Given the description of an element on the screen output the (x, y) to click on. 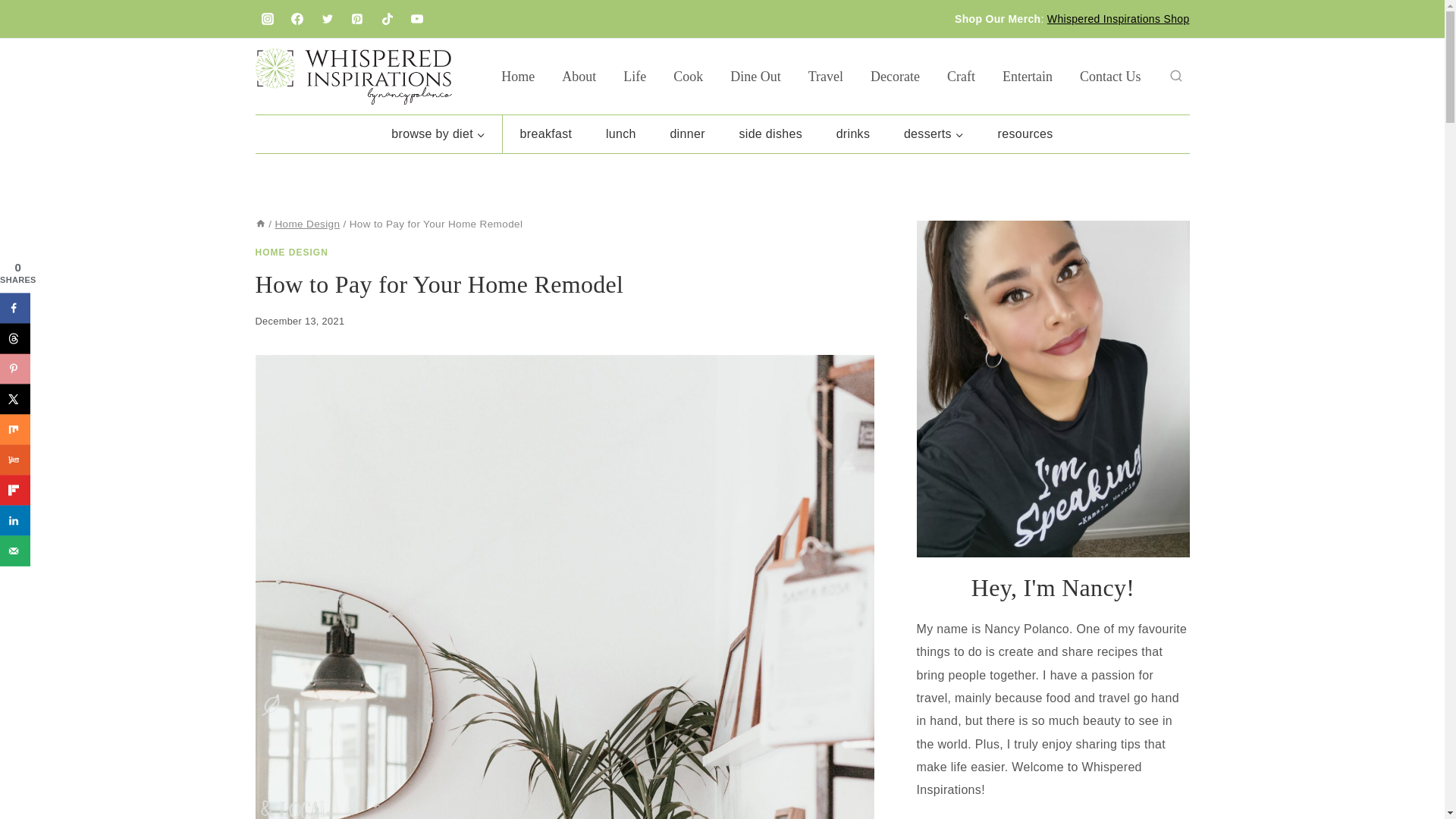
Home (517, 76)
Cook (687, 76)
Life (634, 76)
drinks (852, 134)
dinner (687, 134)
About (579, 76)
Contact Us (1109, 76)
Dine Out (755, 76)
Whispered Inspirations Shop (1117, 19)
breakfast (545, 134)
side dishes (770, 134)
desserts (933, 134)
Entertain (1026, 76)
Home (259, 224)
lunch (620, 134)
